Given the description of an element on the screen output the (x, y) to click on. 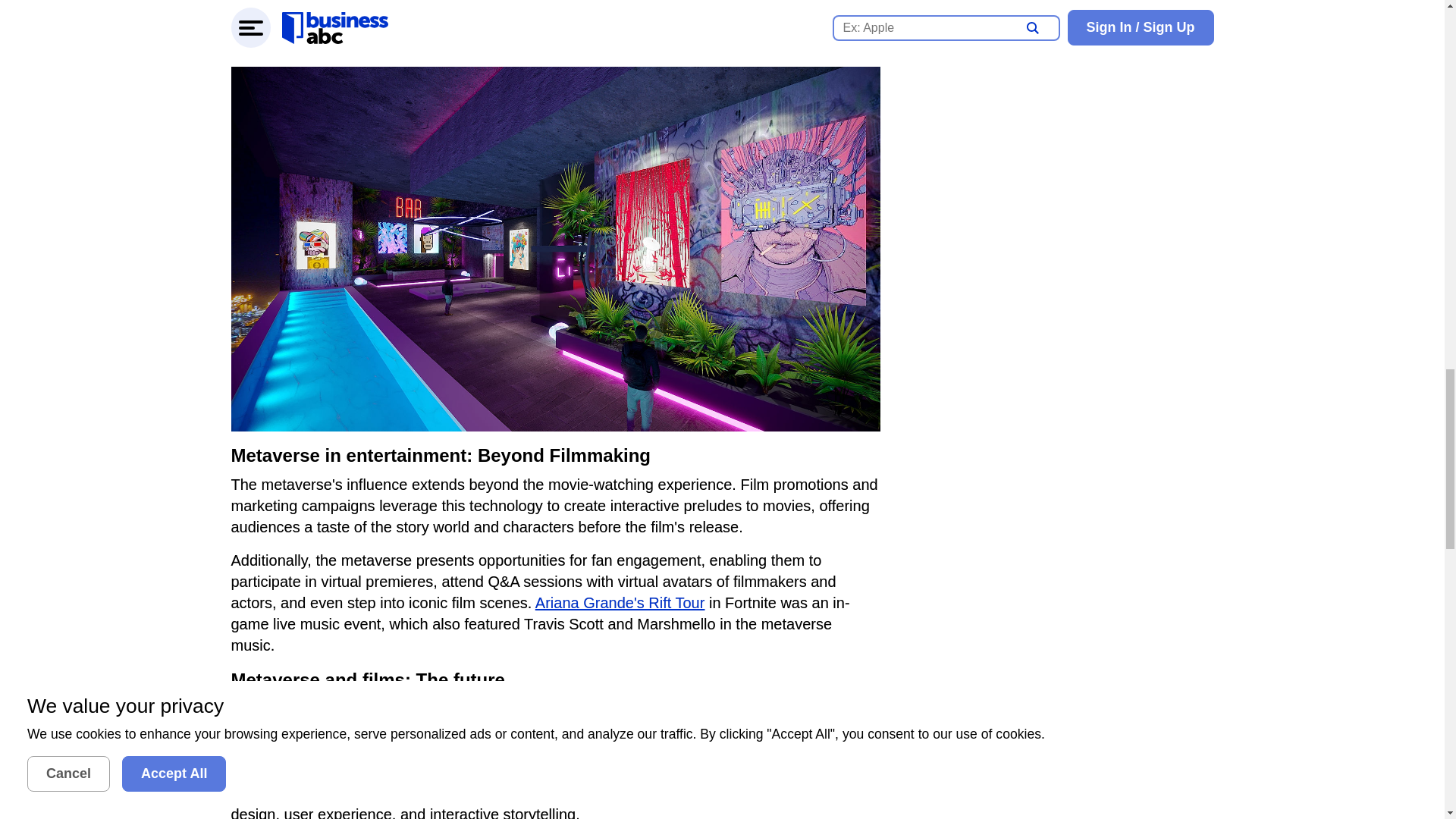
Ariana Grande's Rift Tour (619, 602)
